Given the description of an element on the screen output the (x, y) to click on. 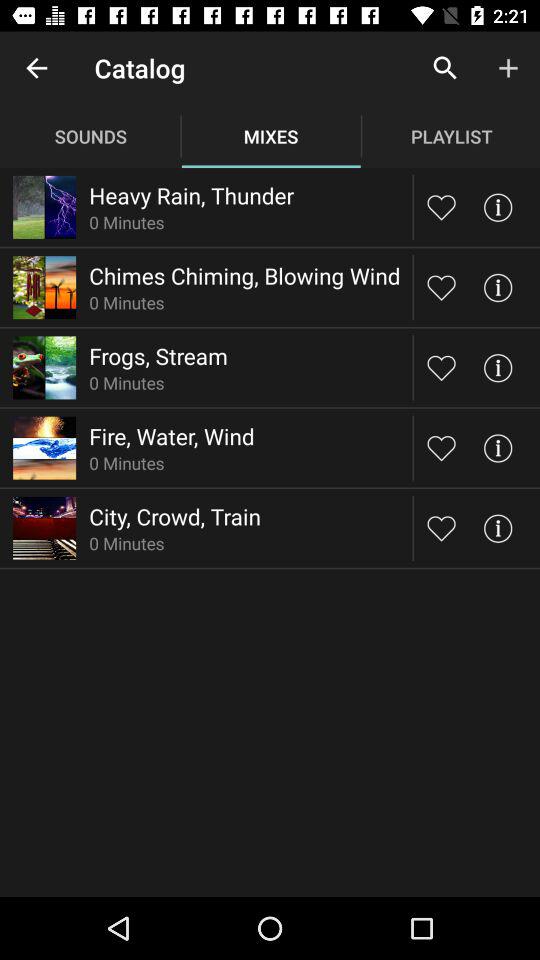
like the sound (441, 367)
